Given the description of an element on the screen output the (x, y) to click on. 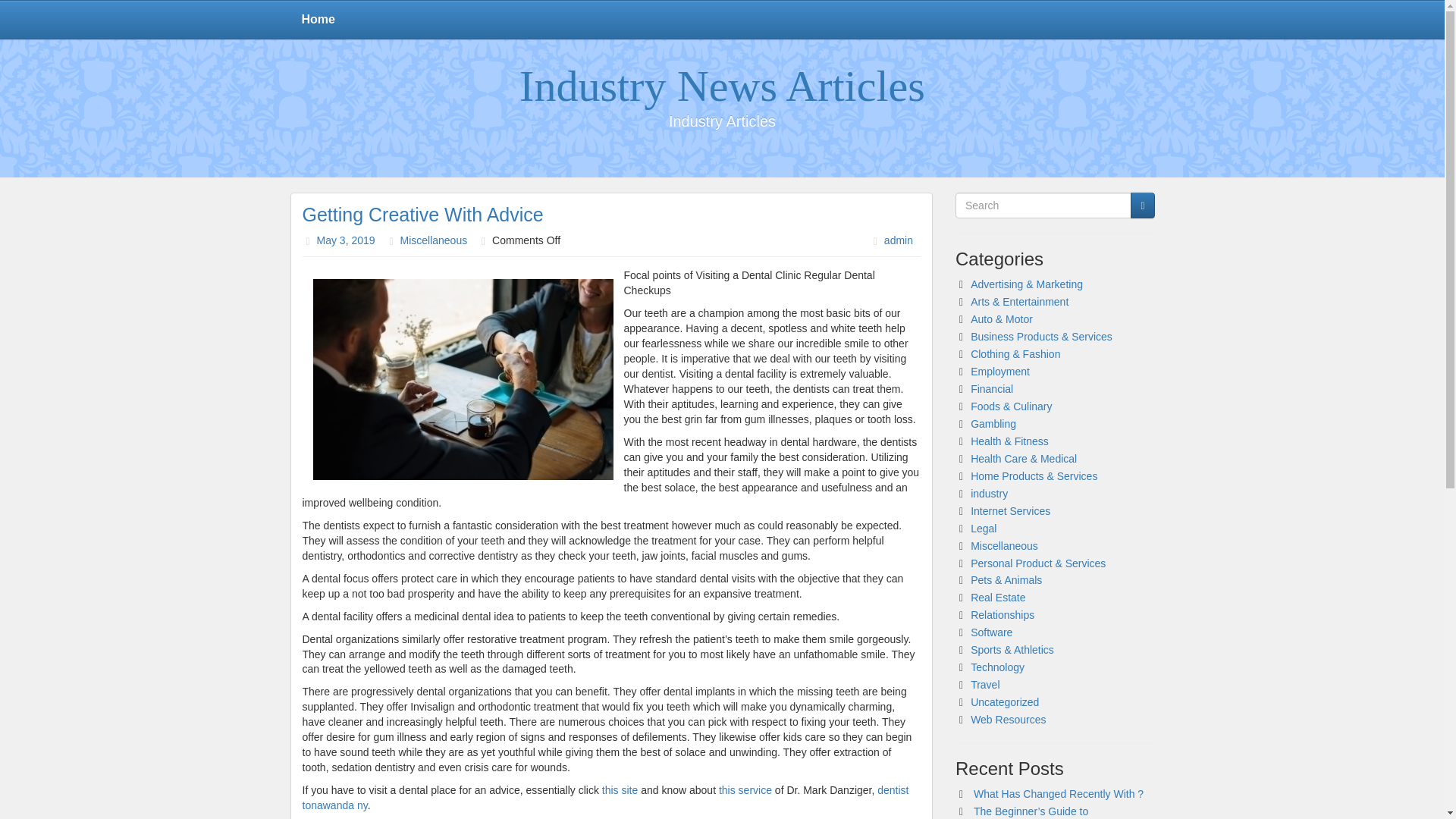
industry (989, 493)
Web Resources (1008, 719)
Miscellaneous (432, 240)
Uncategorized (1005, 702)
Posts by admin (897, 240)
Software (991, 632)
Miscellaneous (1004, 545)
Travel (984, 684)
Internet Services (1010, 510)
Industry News Articles (721, 85)
